Given the description of an element on the screen output the (x, y) to click on. 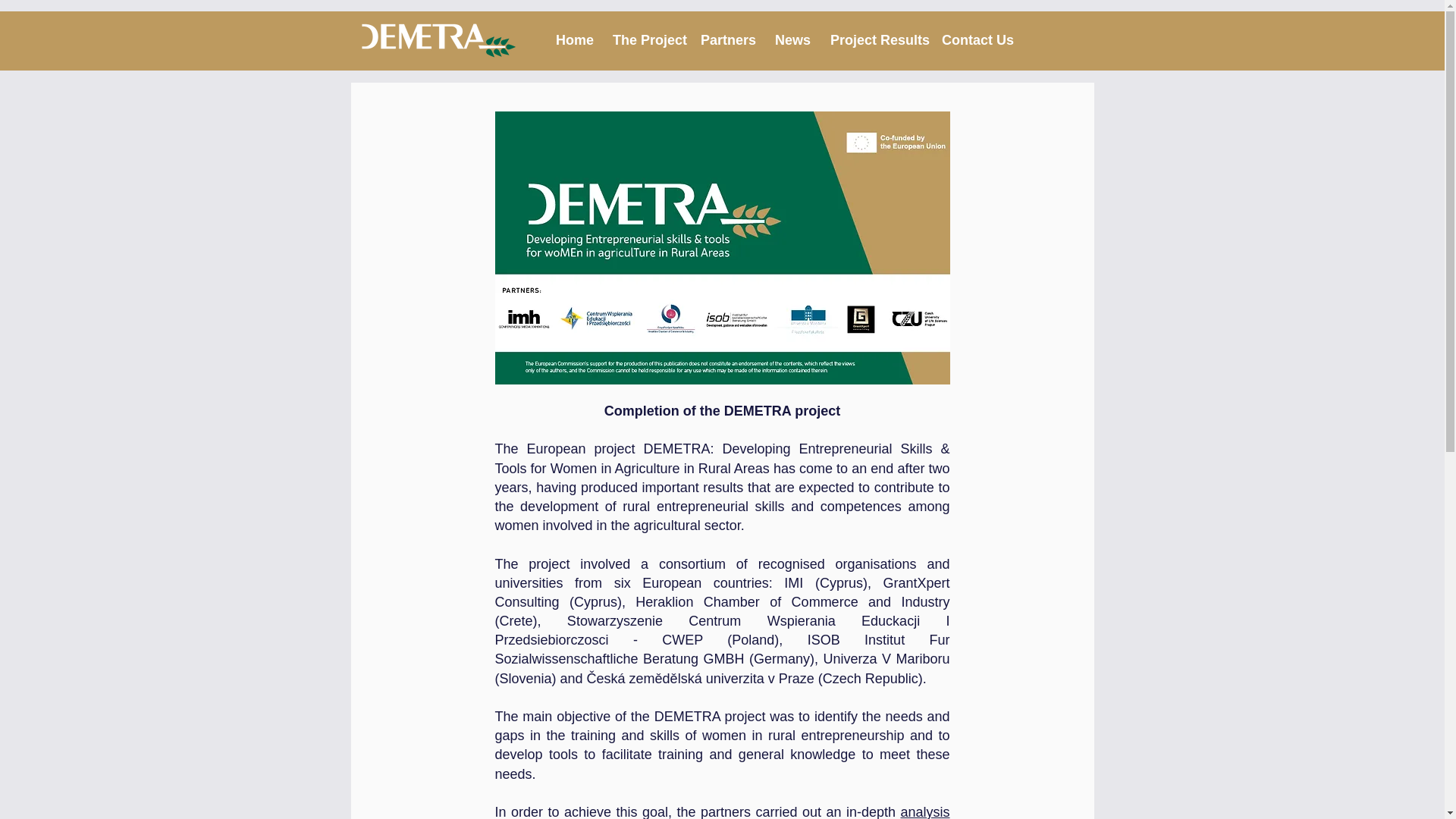
analysis of the context (722, 811)
Contact Us (972, 40)
LOGO without tag line.png (437, 40)
The Project (644, 40)
Home (572, 40)
Partners (725, 40)
Project Results (874, 40)
News (790, 40)
NEWS POSTS BANNER 1.jpg (722, 247)
